Given the description of an element on the screen output the (x, y) to click on. 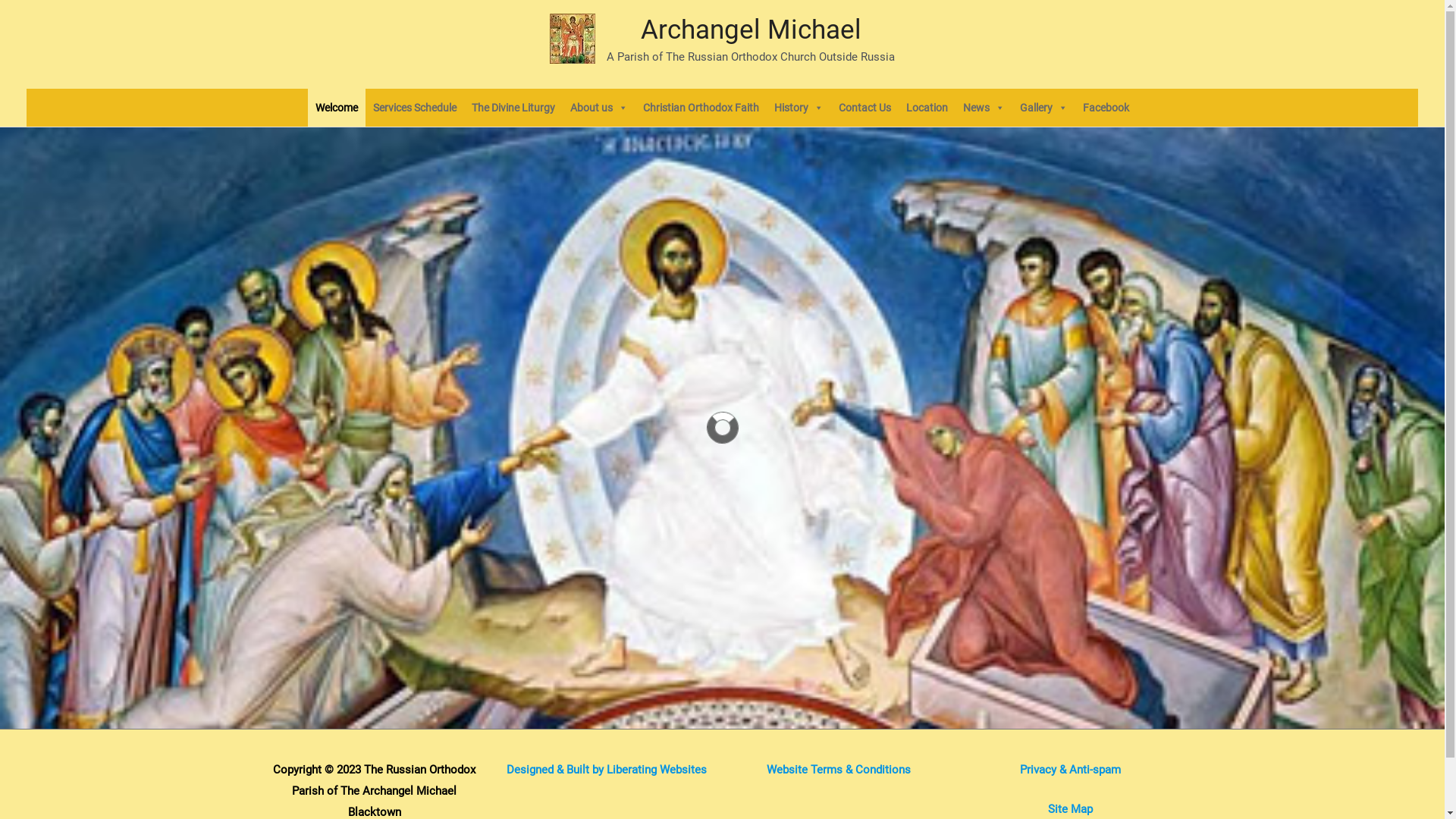
About us Element type: text (598, 106)
News Element type: text (983, 106)
Contact Us Element type: text (864, 106)
Welcome Element type: text (336, 106)
Facebook Element type: text (1105, 106)
Gallery Element type: text (1043, 106)
Site Map Element type: text (1070, 808)
The Divine Liturgy Element type: text (513, 106)
CHRIST IS RISEN! TRULY HE HAS RISEN! Element type: text (737, 155)
Website Terms & Conditions Element type: text (837, 769)
Designed & Built by Liberating Websites Element type: text (606, 769)
Services Schedule Element type: text (414, 106)
Archangel Michael Element type: text (750, 29)
Christian Orthodox Faith Element type: text (700, 106)
Location Element type: text (926, 106)
History Element type: text (798, 106)
Privacy & Anti-spam Element type: text (1069, 769)
